Given the description of an element on the screen output the (x, y) to click on. 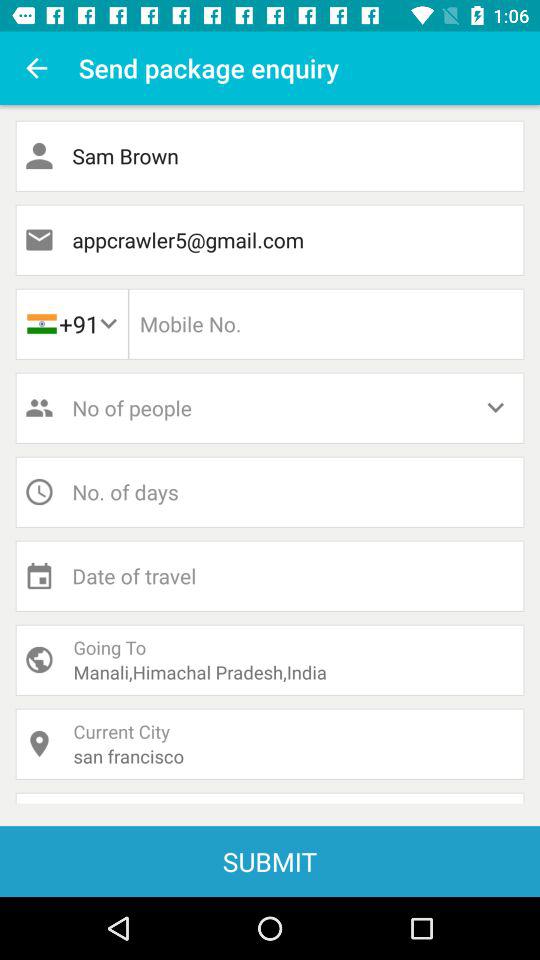
enter phone number (326, 323)
